Given the description of an element on the screen output the (x, y) to click on. 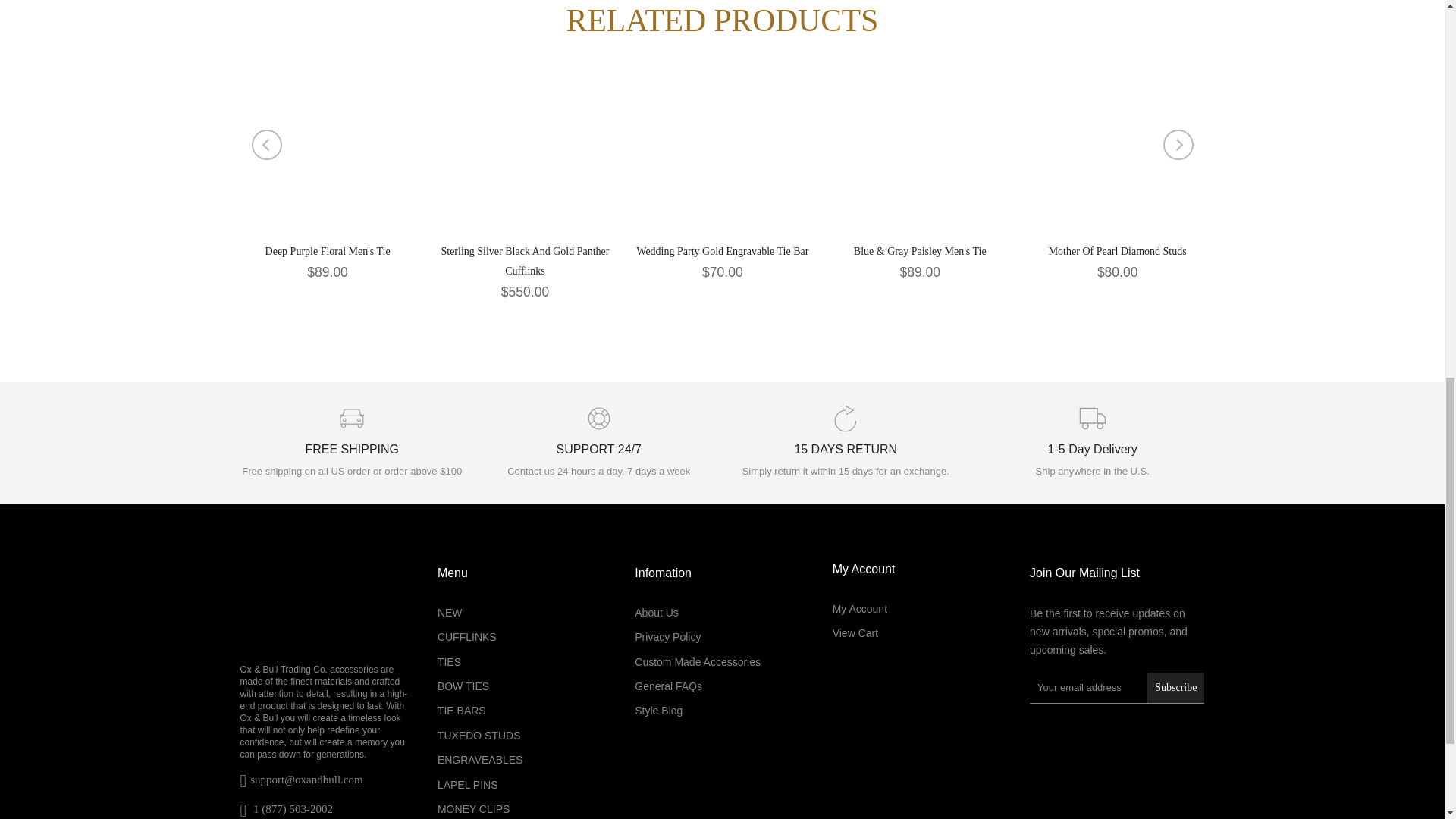
1 (847, 35)
